Given the description of an element on the screen output the (x, y) to click on. 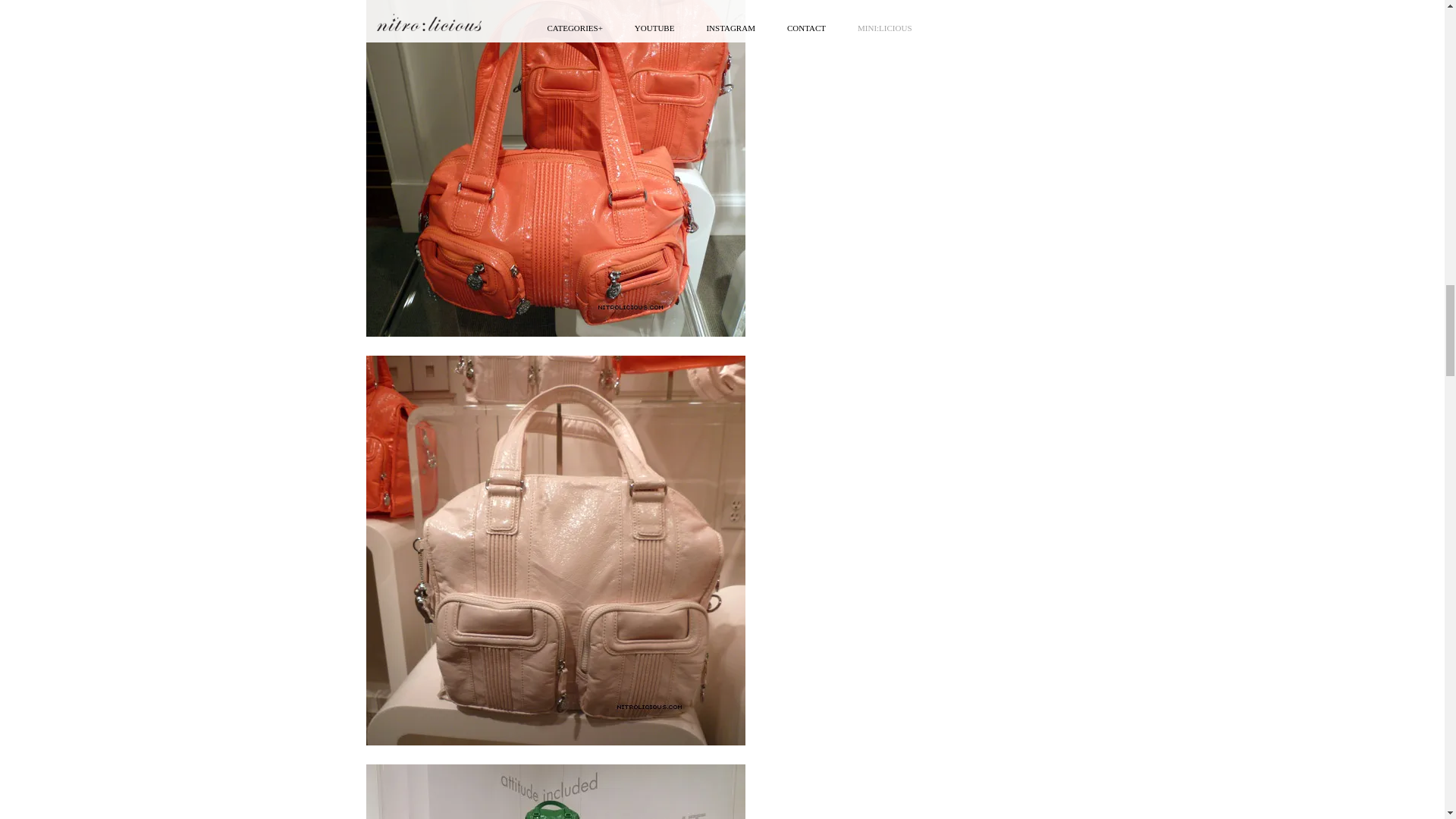
kipling sp09 06 photo (554, 168)
kipling sp09 01 photo (554, 791)
